Given the description of an element on the screen output the (x, y) to click on. 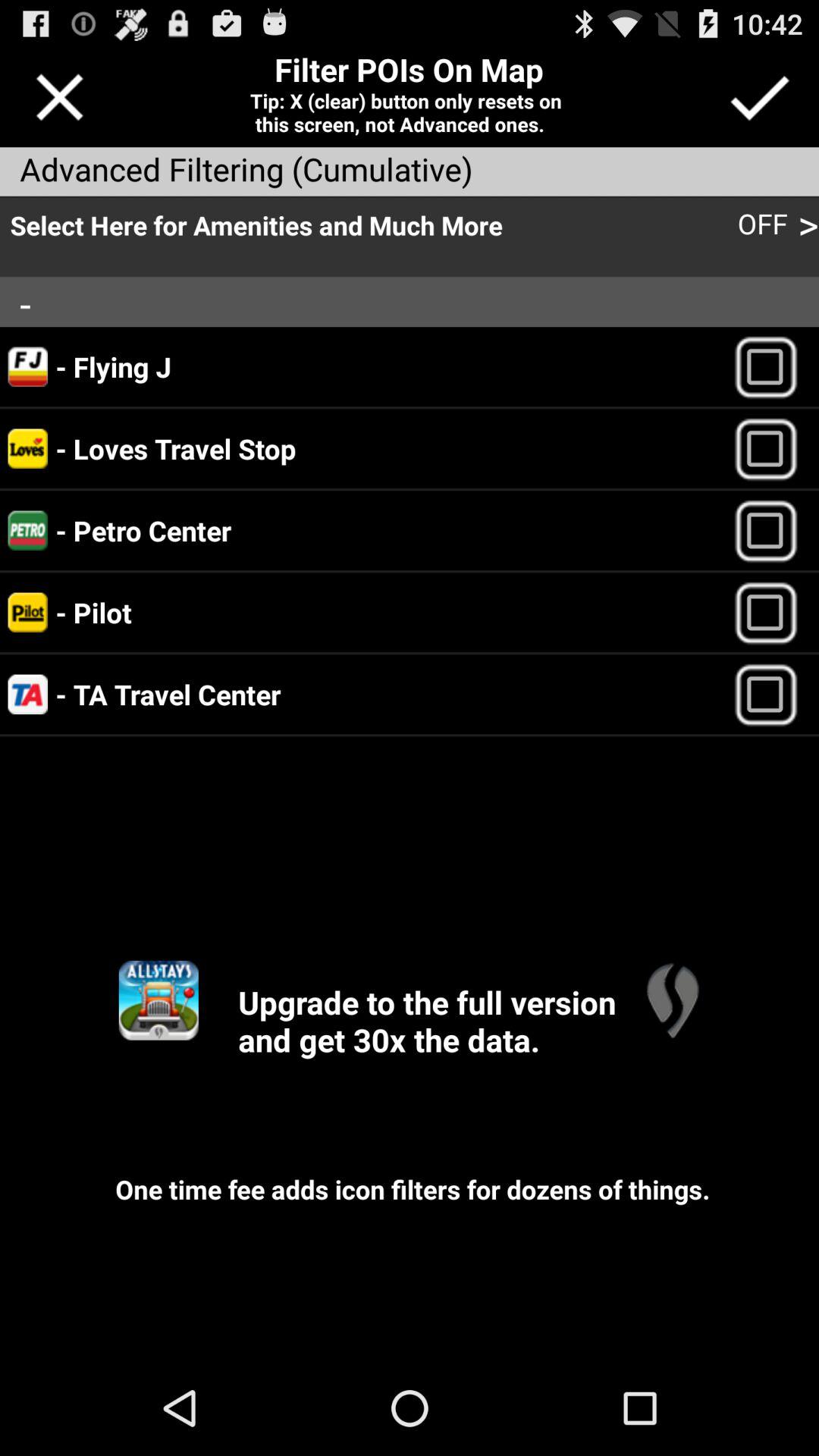
close page (59, 97)
